Given the description of an element on the screen output the (x, y) to click on. 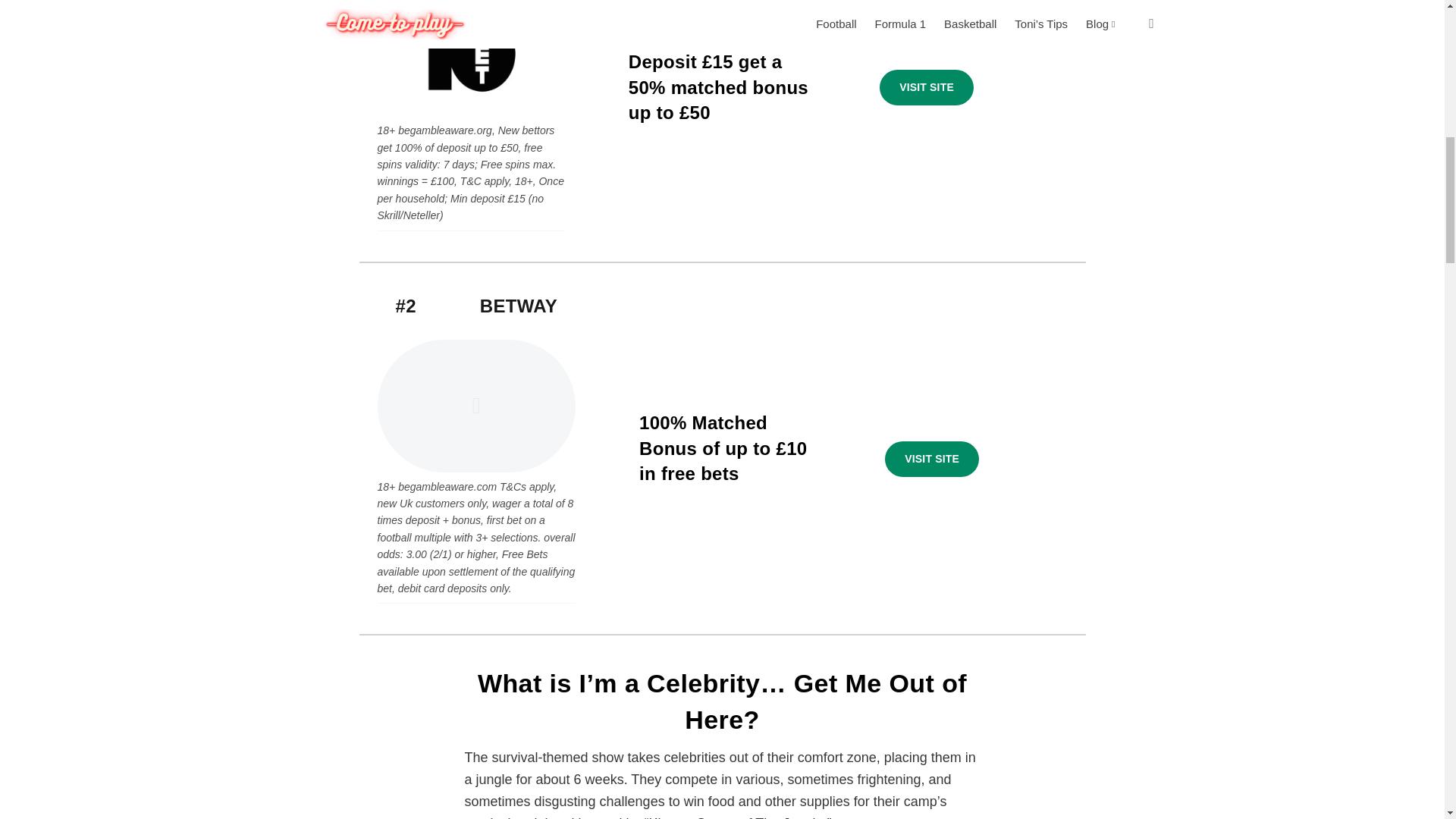
VISIT SITE (926, 87)
VISIT SITE (931, 459)
BETWAY (518, 305)
